Given the description of an element on the screen output the (x, y) to click on. 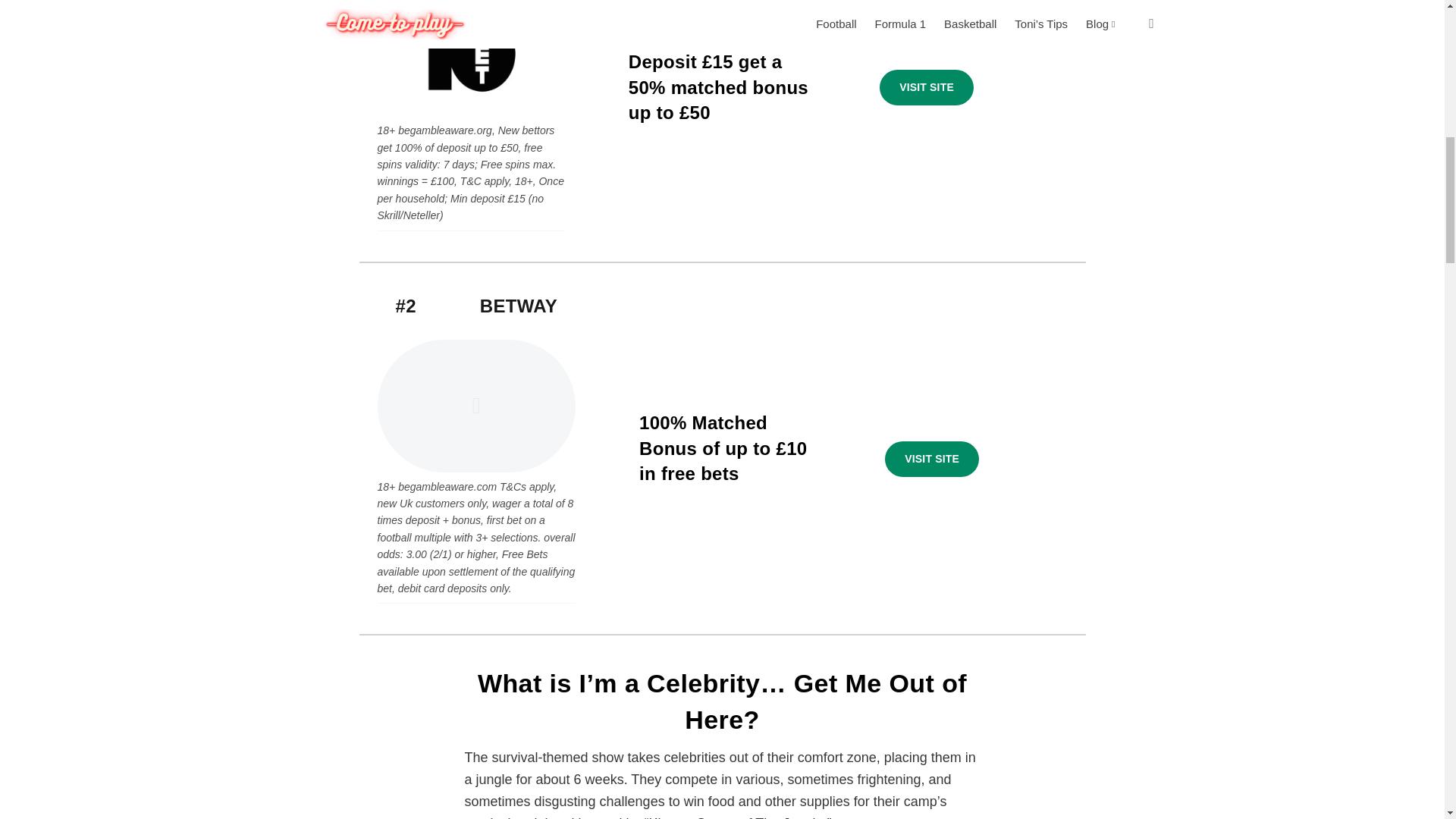
VISIT SITE (926, 87)
VISIT SITE (931, 459)
BETWAY (518, 305)
